Given the description of an element on the screen output the (x, y) to click on. 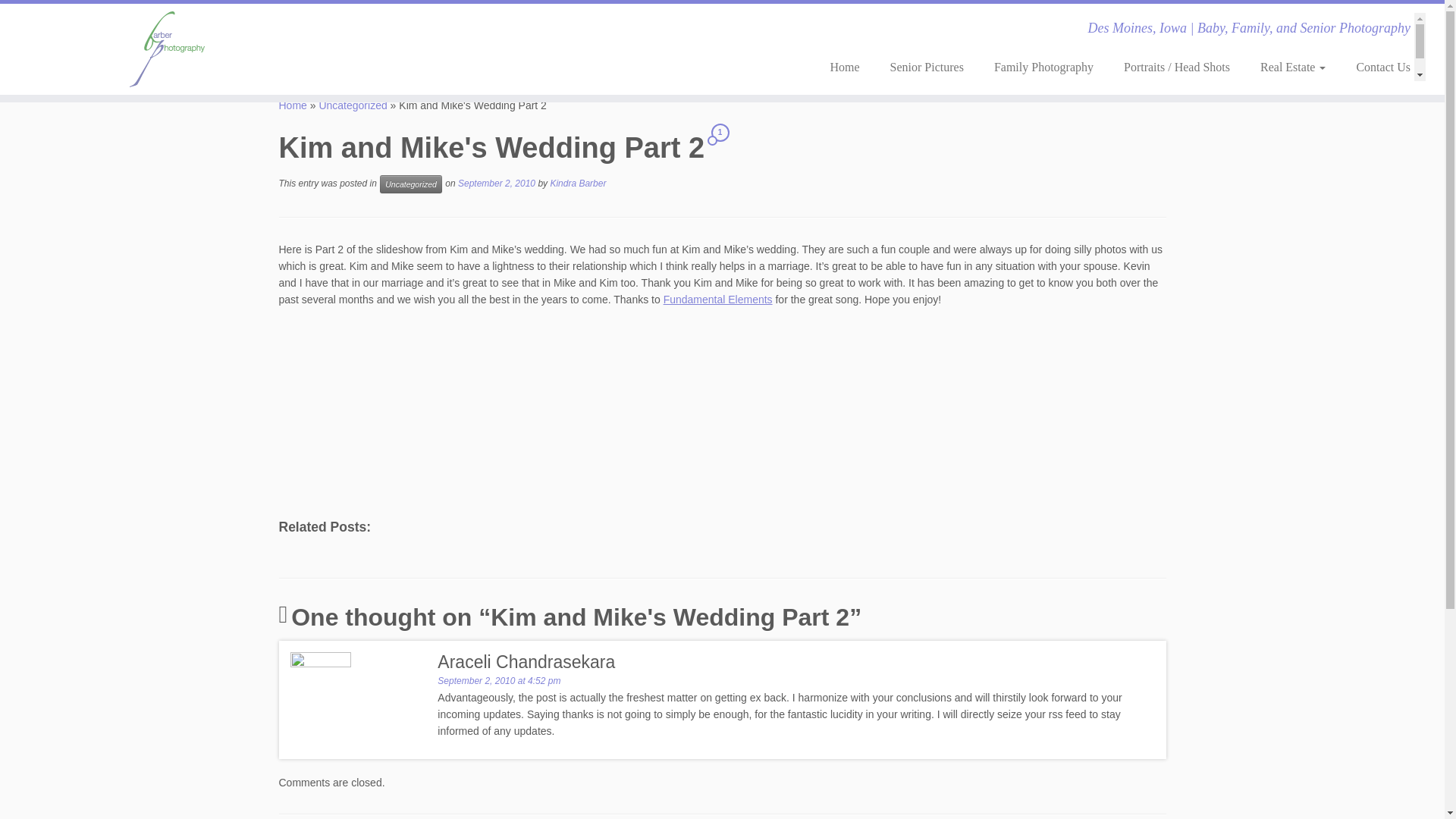
Uncategorized (411, 184)
7:15 am (496, 183)
Barber Photography (293, 105)
September 2, 2010 (496, 183)
Kindra Barber (577, 183)
Contact Us (1375, 67)
Uncategorized (352, 105)
Senior Pictures (926, 67)
September 2, 2010 at 4:52 pm (499, 680)
View all posts in Uncategorized (411, 184)
